Given the description of an element on the screen output the (x, y) to click on. 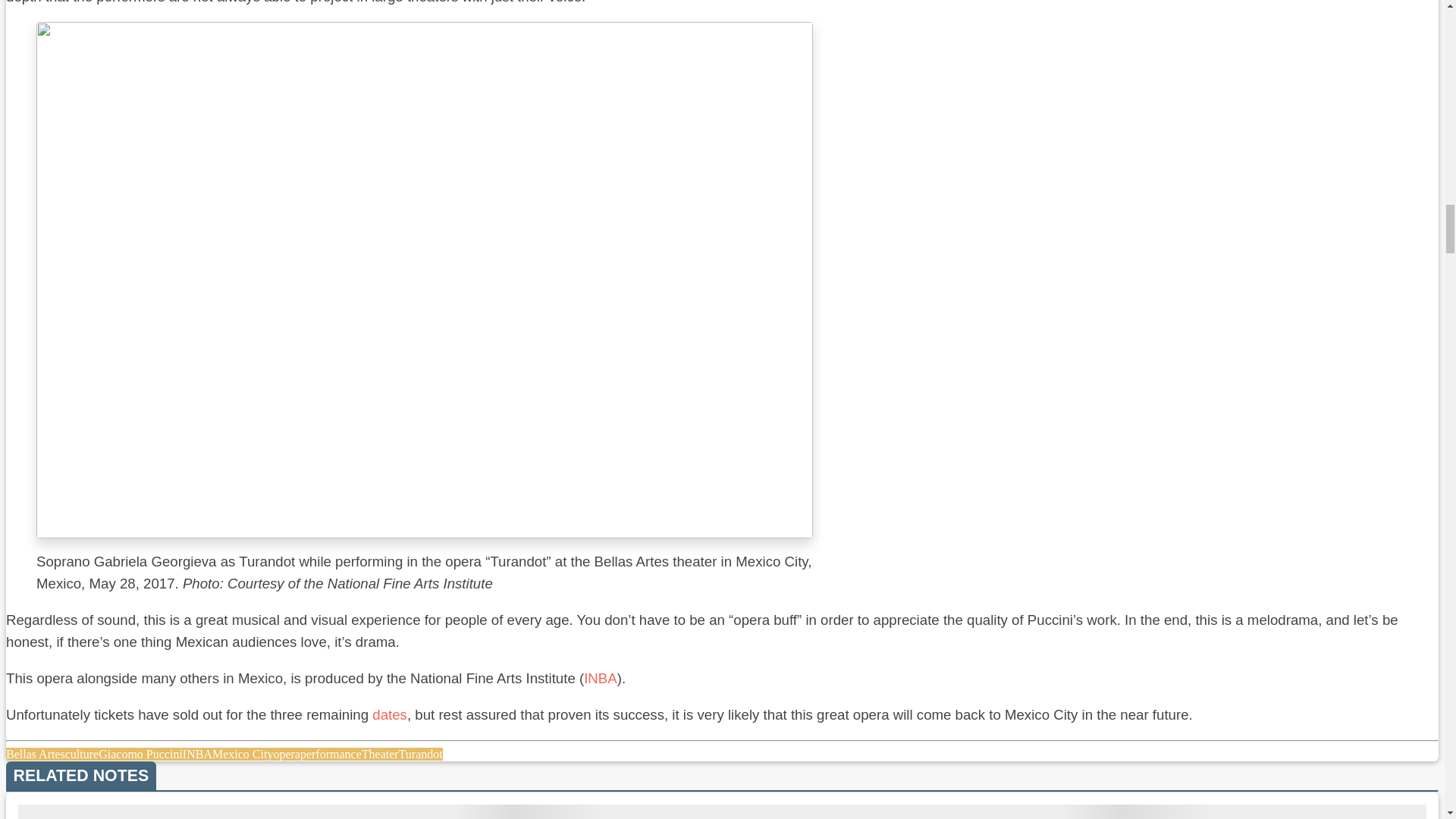
INBA (600, 678)
INBA (197, 753)
Bellas Artes (35, 753)
Mexico City (242, 753)
dates (389, 714)
Giacomo Puccini (141, 753)
performance (330, 753)
Theater (379, 753)
Turandot (420, 753)
culture (82, 753)
